Given the description of an element on the screen output the (x, y) to click on. 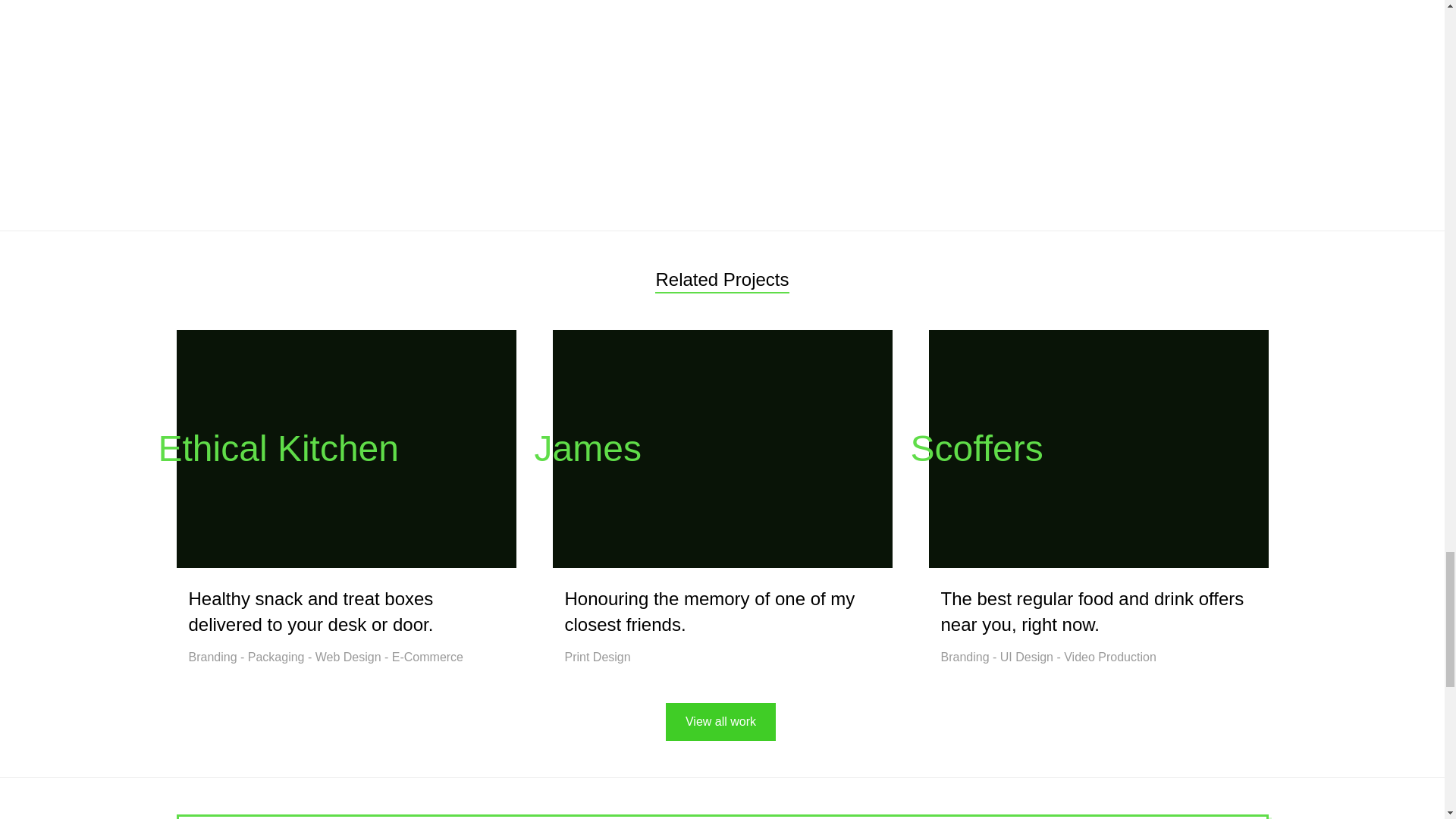
James (721, 449)
Scoffers (1098, 449)
View all work (720, 721)
Ethical Kitchen (345, 449)
